Given the description of an element on the screen output the (x, y) to click on. 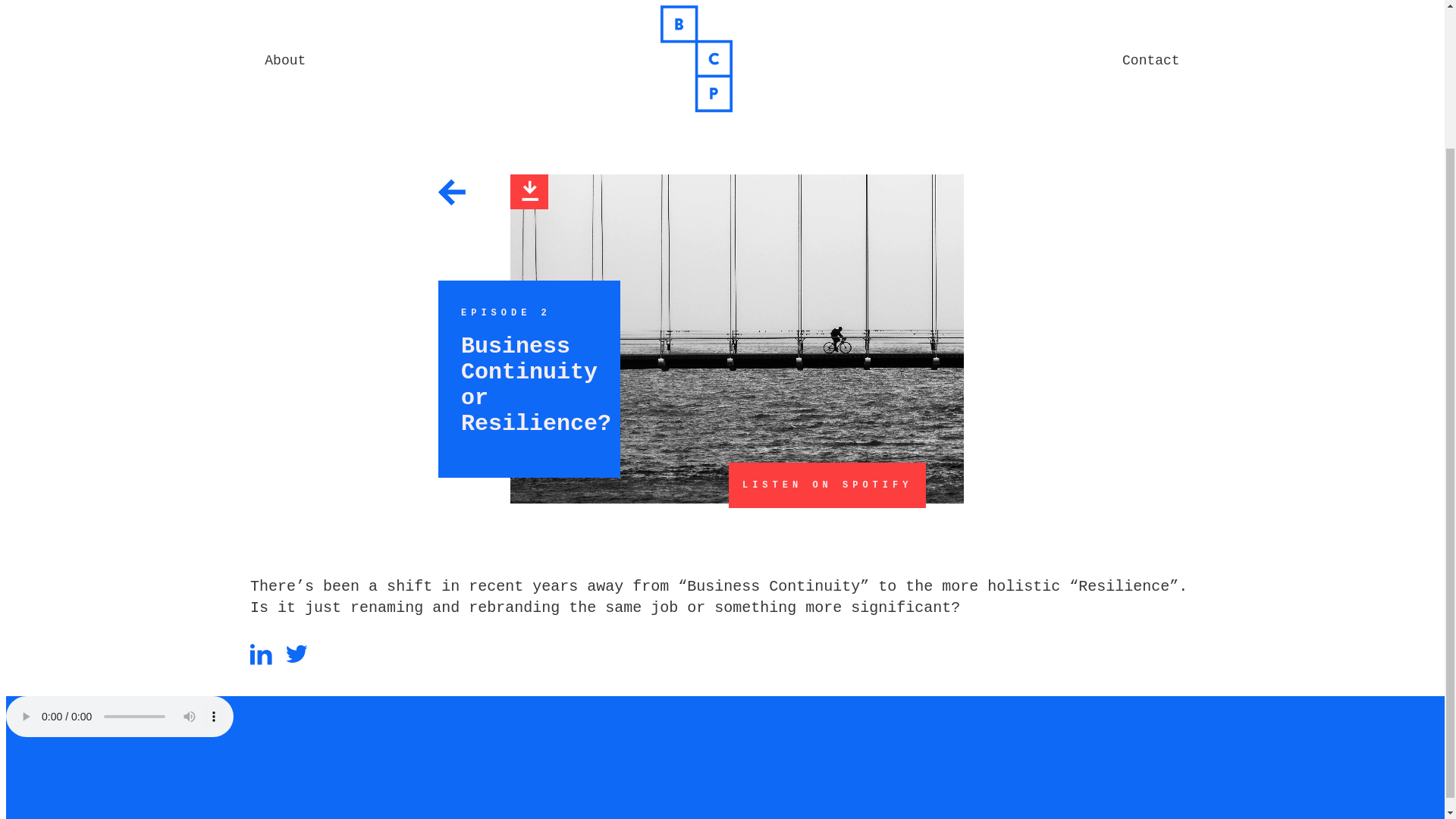
About (284, 60)
Contact (1150, 60)
LISTEN ON SPOTIFY (827, 484)
